Given the description of an element on the screen output the (x, y) to click on. 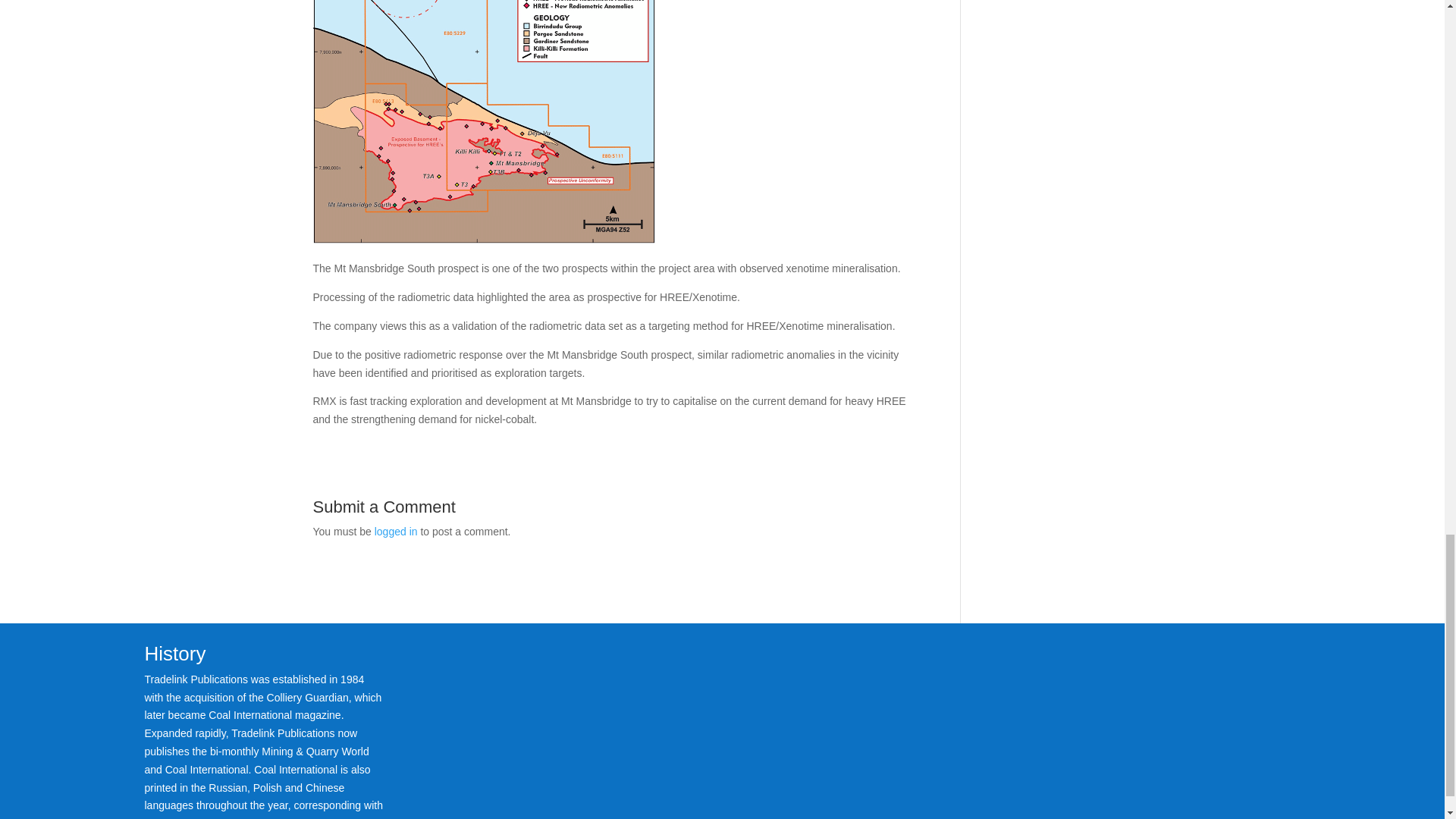
logged in (395, 531)
